Given the description of an element on the screen output the (x, y) to click on. 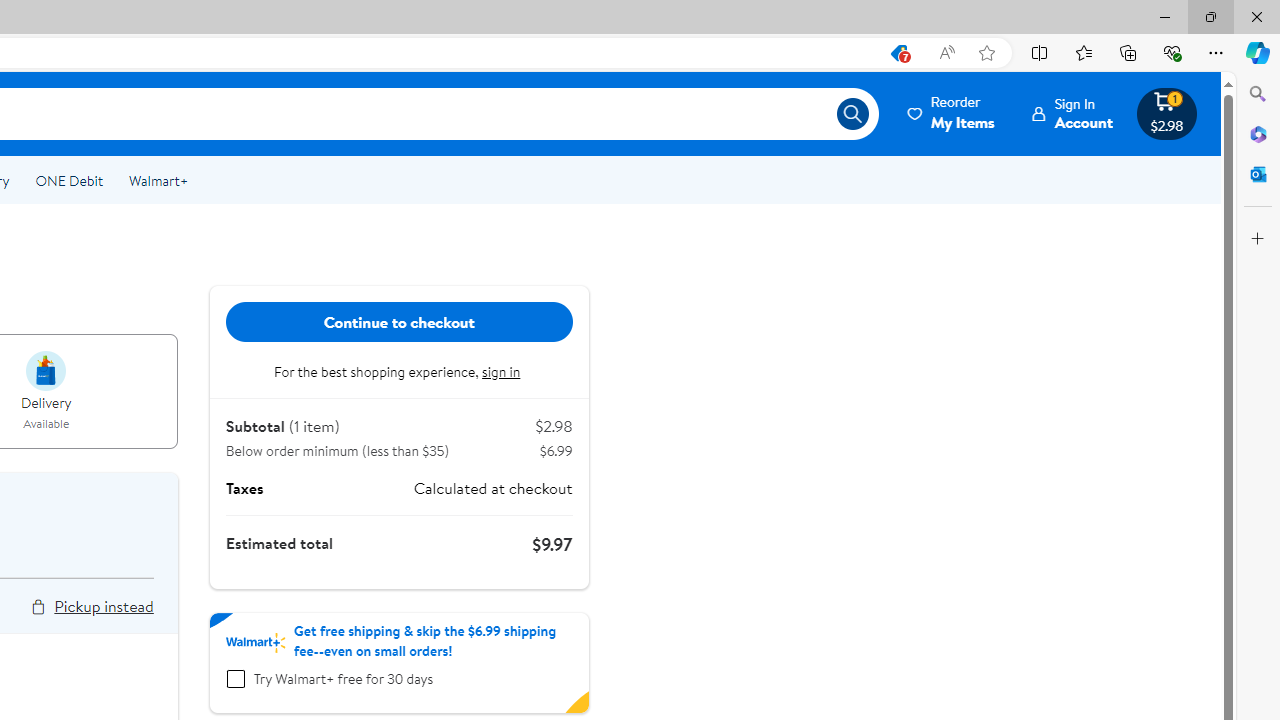
ReorderMy Items (952, 113)
Sign InAccount (1072, 113)
Cart contains 1 item Total Amount $2.98 (1166, 113)
Reorder My Items (952, 113)
Walmart+ (158, 180)
ONE Debit (68, 180)
Walmart Plus (255, 642)
Sign In Account (1072, 113)
sign in (503, 372)
